Given the description of an element on the screen output the (x, y) to click on. 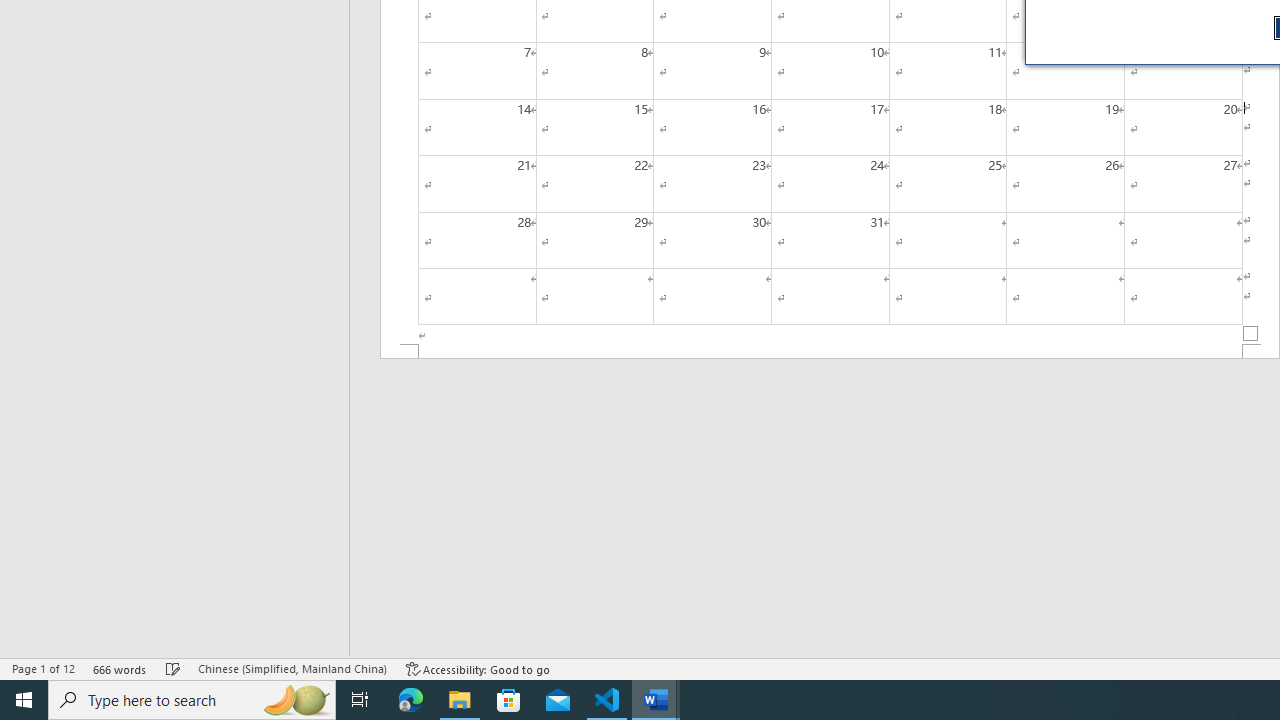
Language Chinese (Simplified, Mainland China) (292, 668)
Page Number Page 1 of 12 (43, 668)
Footer -Section 1- (830, 351)
Type here to search (191, 699)
Accessibility Checker Accessibility: Good to go (478, 668)
Visual Studio Code - 1 running window (607, 699)
File Explorer - 1 running window (460, 699)
Word Count 666 words (119, 668)
Microsoft Store (509, 699)
Start (24, 699)
Task View (359, 699)
Word - 2 running windows (656, 699)
Spelling and Grammar Check Checking (173, 668)
